Given the description of an element on the screen output the (x, y) to click on. 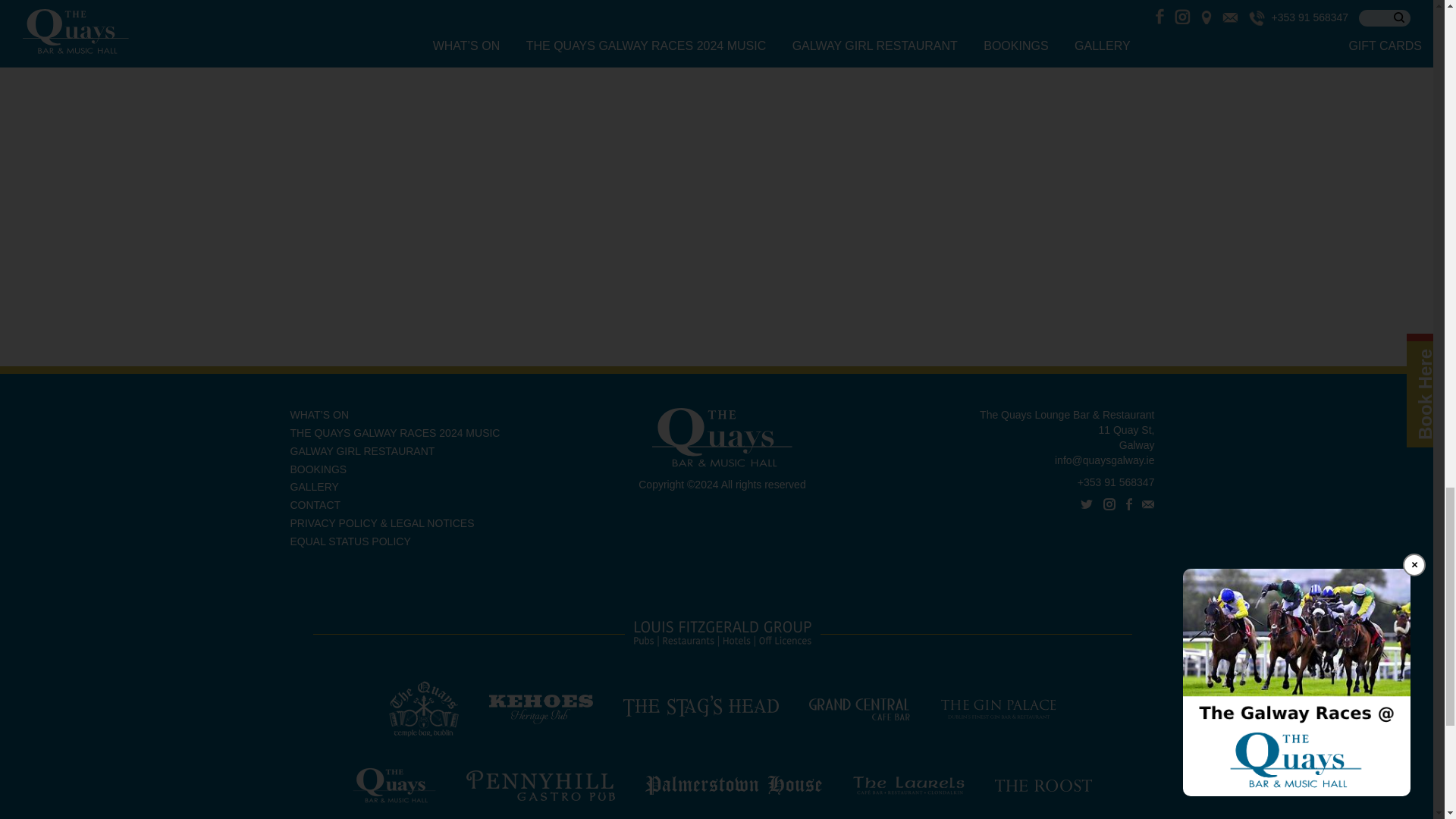
The Stag's Head, Dame Court (700, 707)
Follow us on Instagram (1109, 503)
Kehoe's Heritage Pub, South Ann Street (539, 707)
The Roost, Maynooth (1043, 784)
The Laurels, Clondalkin (907, 784)
Palmerstown House (733, 784)
Get in Touch (1147, 503)
Follow us on Twitter (1086, 503)
The Quays, Temple Bar (423, 707)
Pennyhill Gastro Pub, Lucan (539, 784)
The Gin Palace, Middle Abbey Street (998, 707)
